Given the description of an element on the screen output the (x, y) to click on. 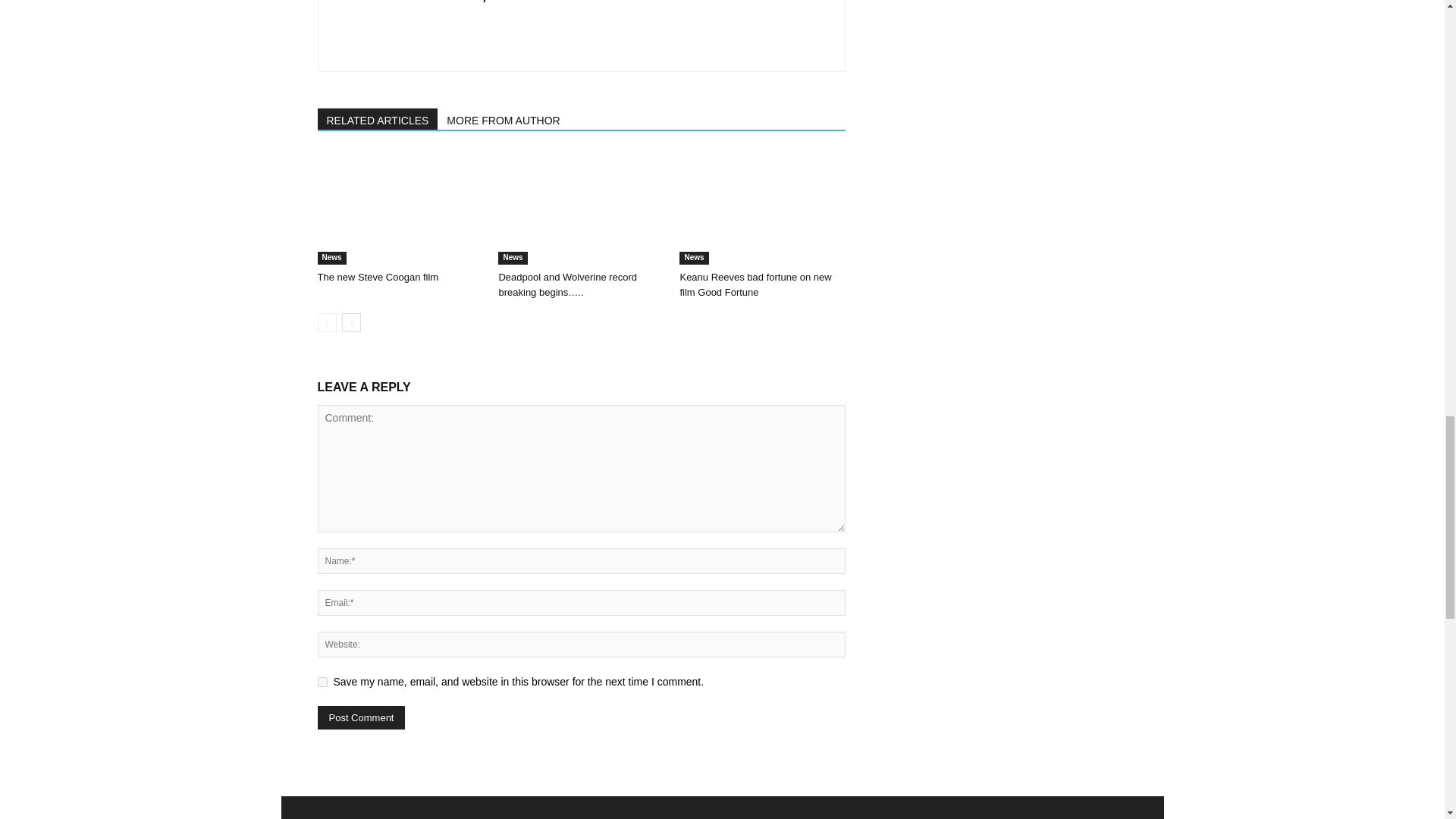
yes (321, 682)
Post Comment (360, 717)
